Given the description of an element on the screen output the (x, y) to click on. 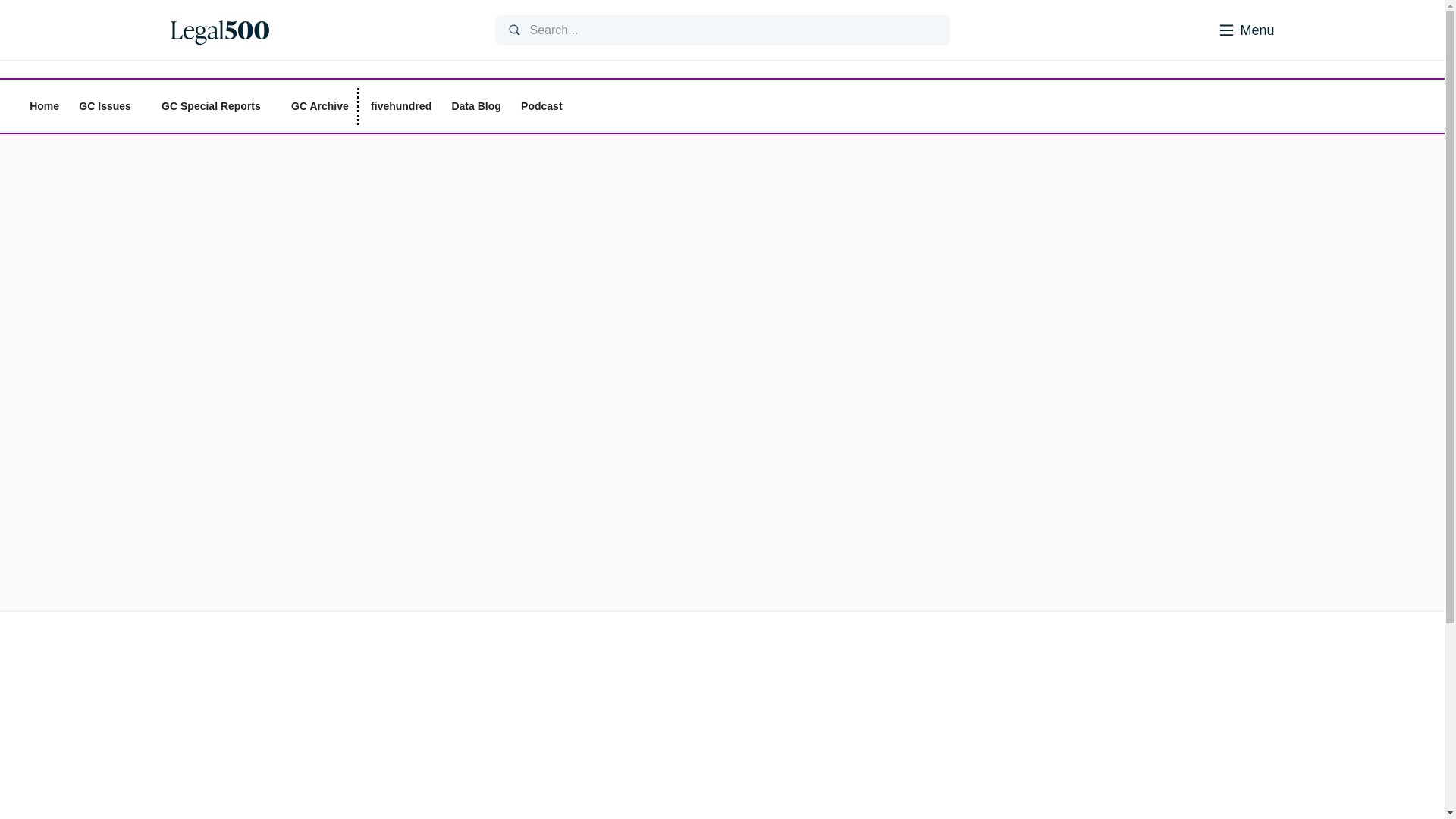
GC Issues (109, 106)
Menu (1225, 29)
Legal 500 (218, 30)
Home (320, 30)
Home (43, 106)
